Given the description of an element on the screen output the (x, y) to click on. 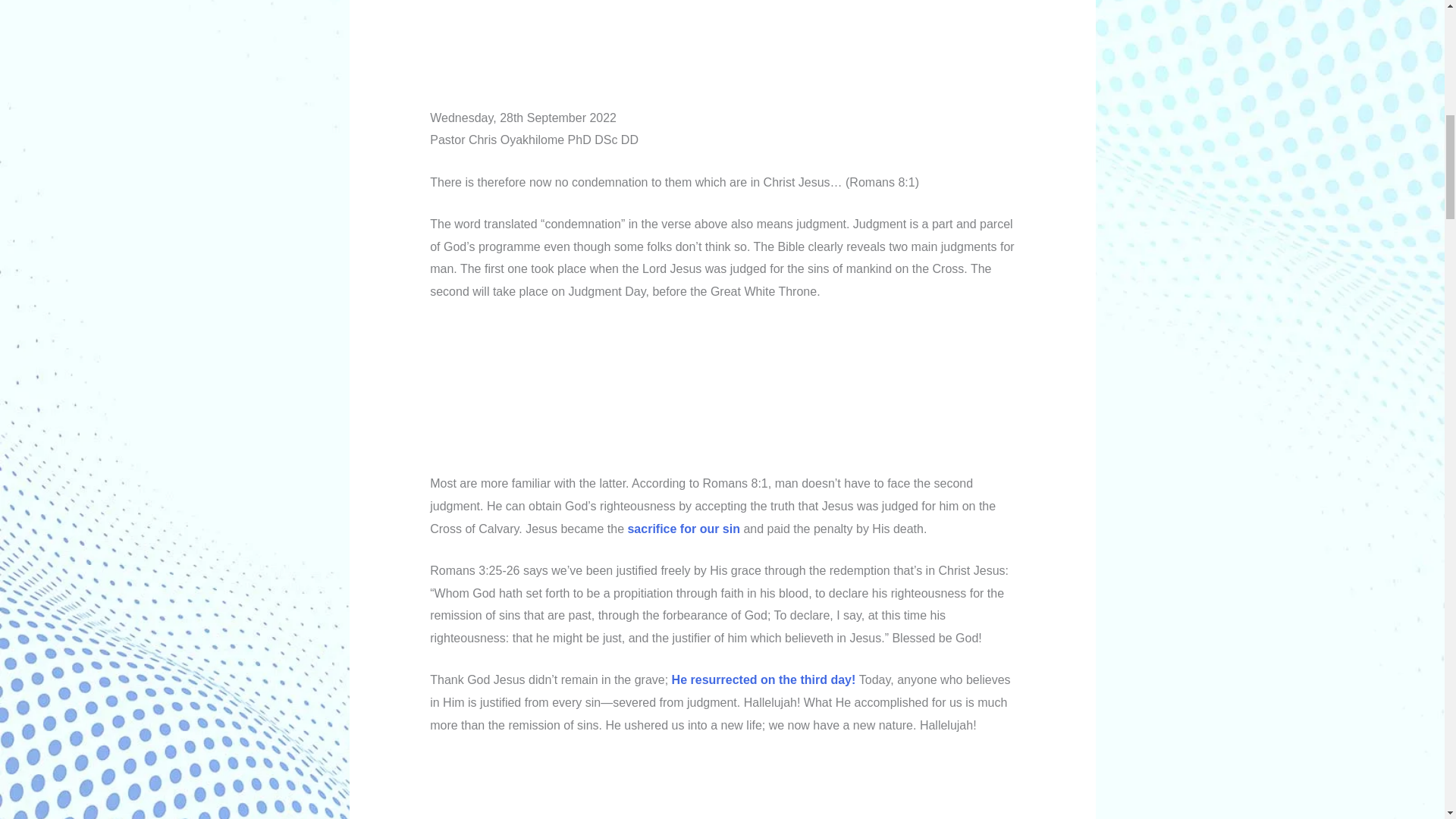
sacrifice for our sin (683, 528)
Advertisement (722, 787)
Advertisement (722, 394)
He resurrected on the third day! (765, 679)
